Given the description of an element on the screen output the (x, y) to click on. 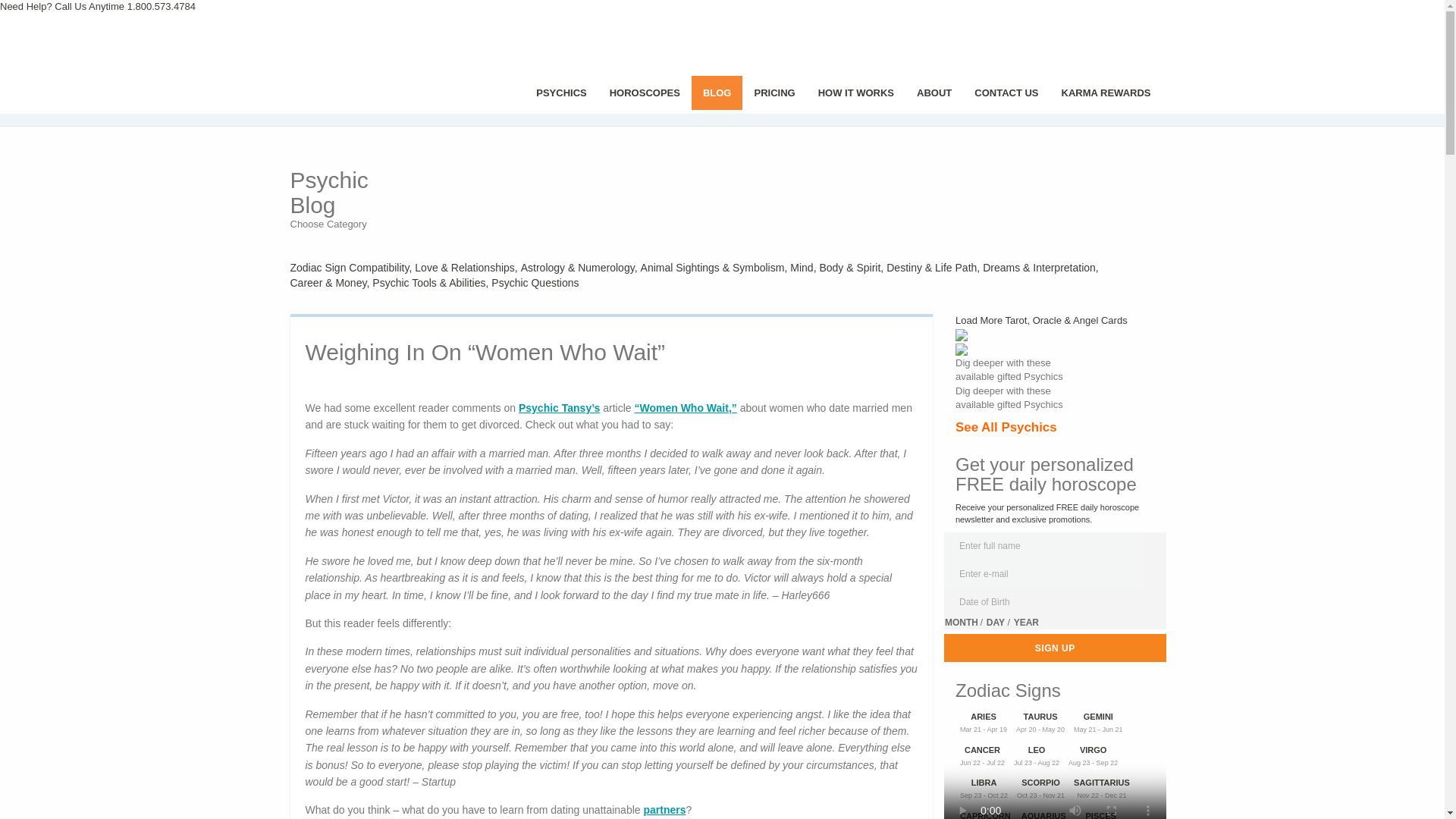
Sign Up (1054, 647)
Need Help? Call Us Anytime 1.800.573.4784 (97, 6)
View all posts filed under Psychic Questions (536, 282)
View all posts filed under Zodiac Sign Compatibility (351, 267)
